Given the description of an element on the screen output the (x, y) to click on. 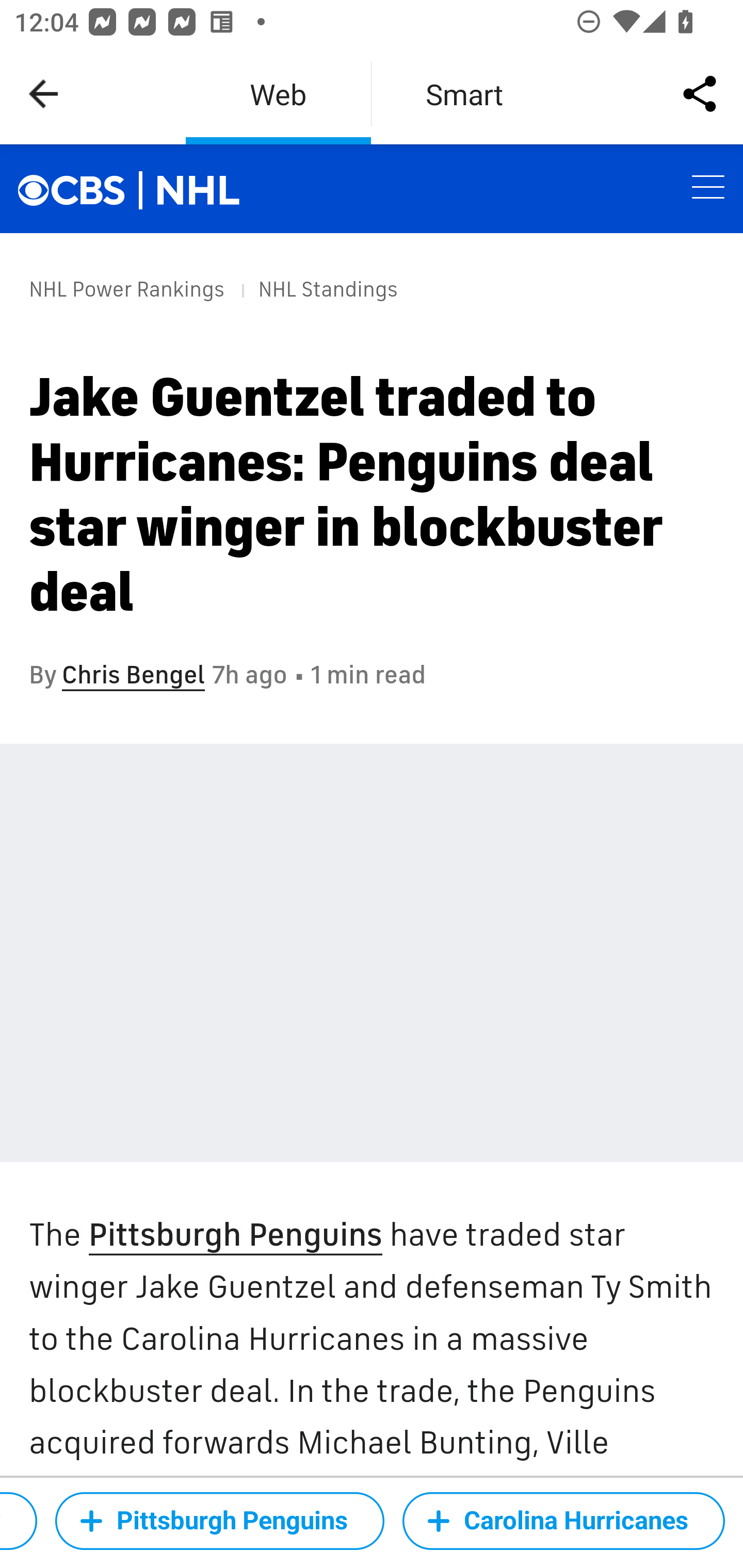
Web (277, 93)
Smart (464, 93)
 (81, 187)
 (199, 189)
NHL Power Rankings (126, 289)
NHL Standings (327, 289)
Chris Bengel (133, 674)
Pittsburgh Penguins (234, 1235)
Pittsburgh Penguins (219, 1520)
Carolina Hurricanes (563, 1520)
